Given the description of an element on the screen output the (x, y) to click on. 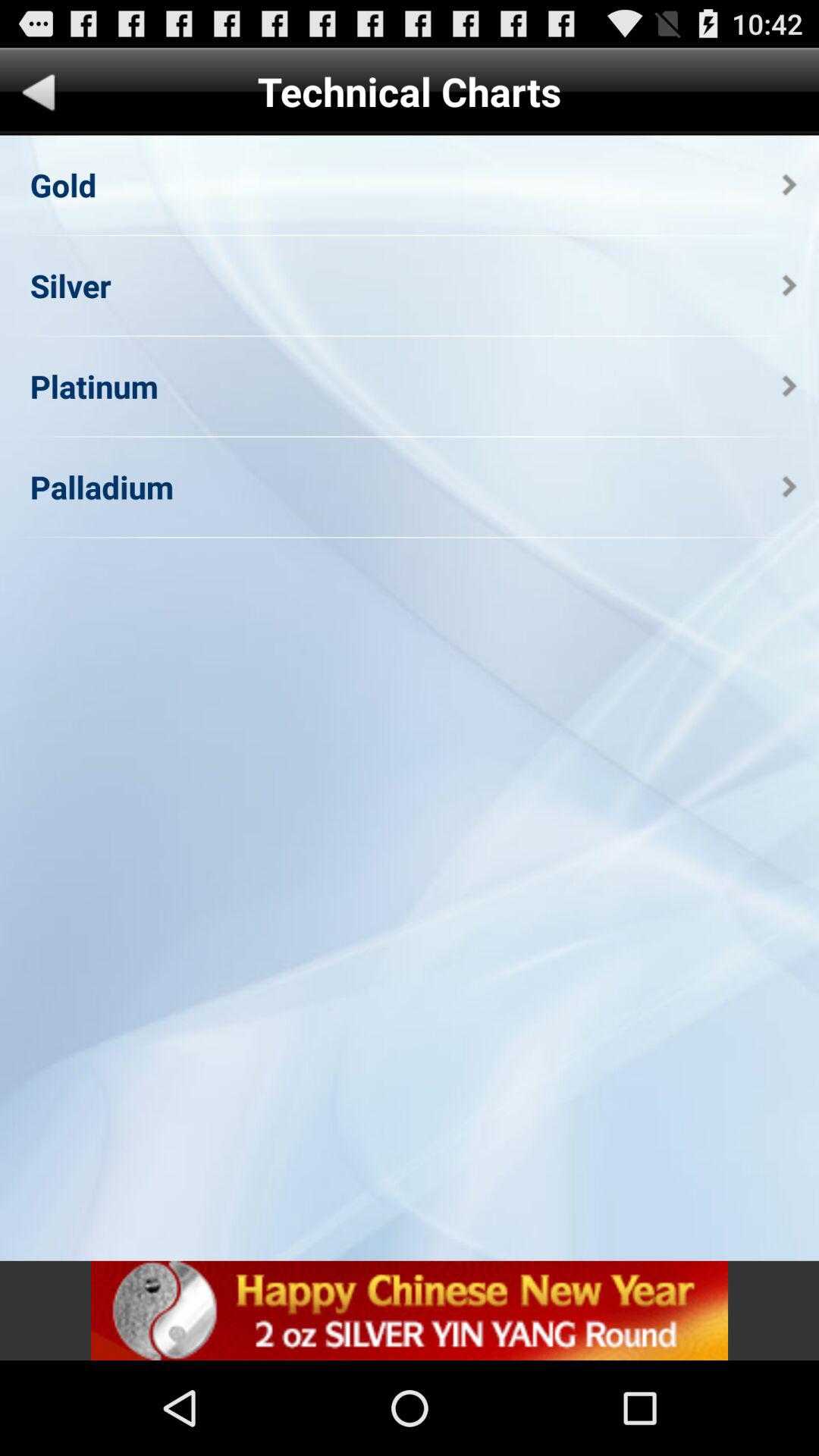
advertisement (409, 1310)
